Given the description of an element on the screen output the (x, y) to click on. 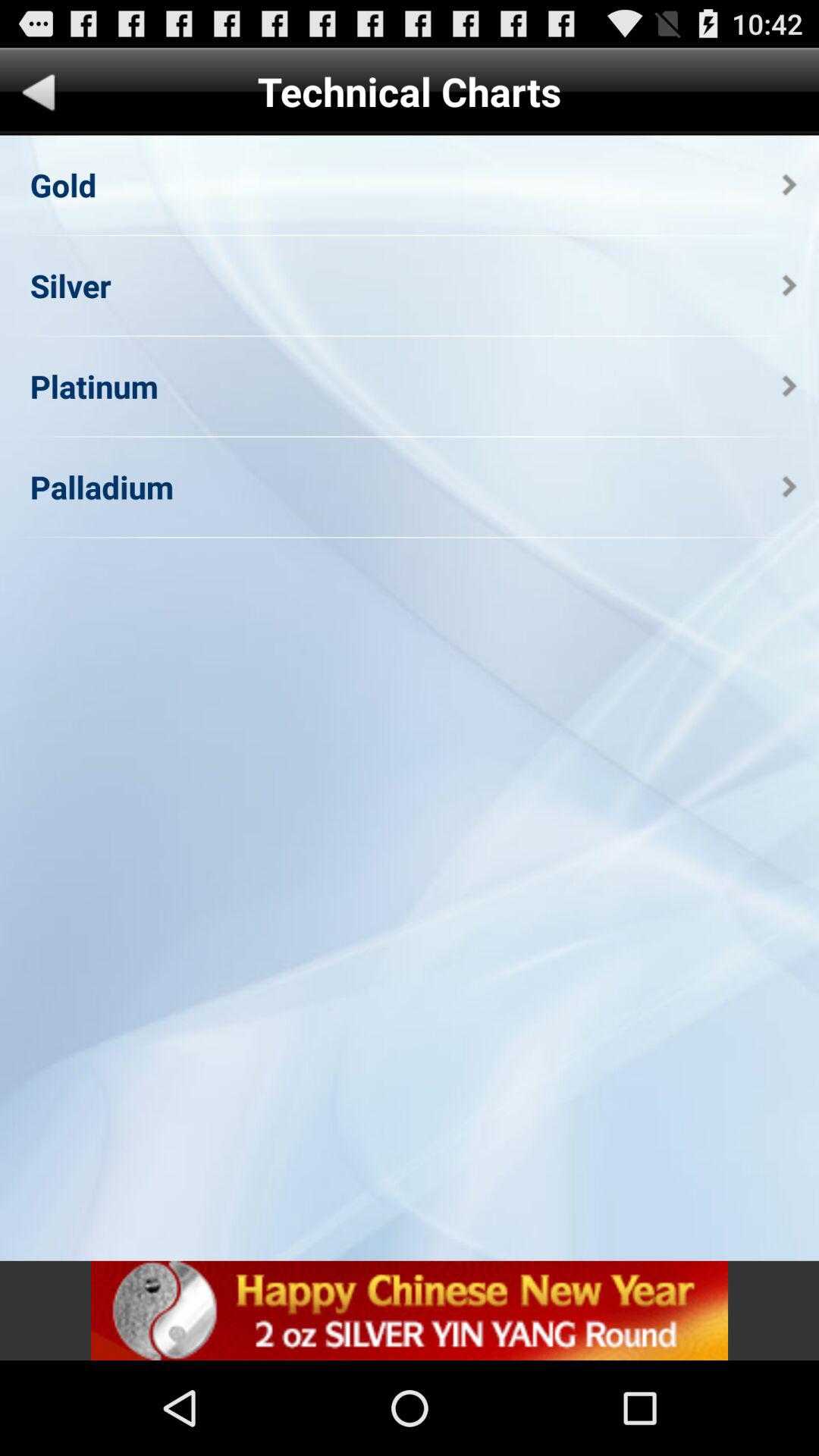
advertisement (409, 1310)
